Given the description of an element on the screen output the (x, y) to click on. 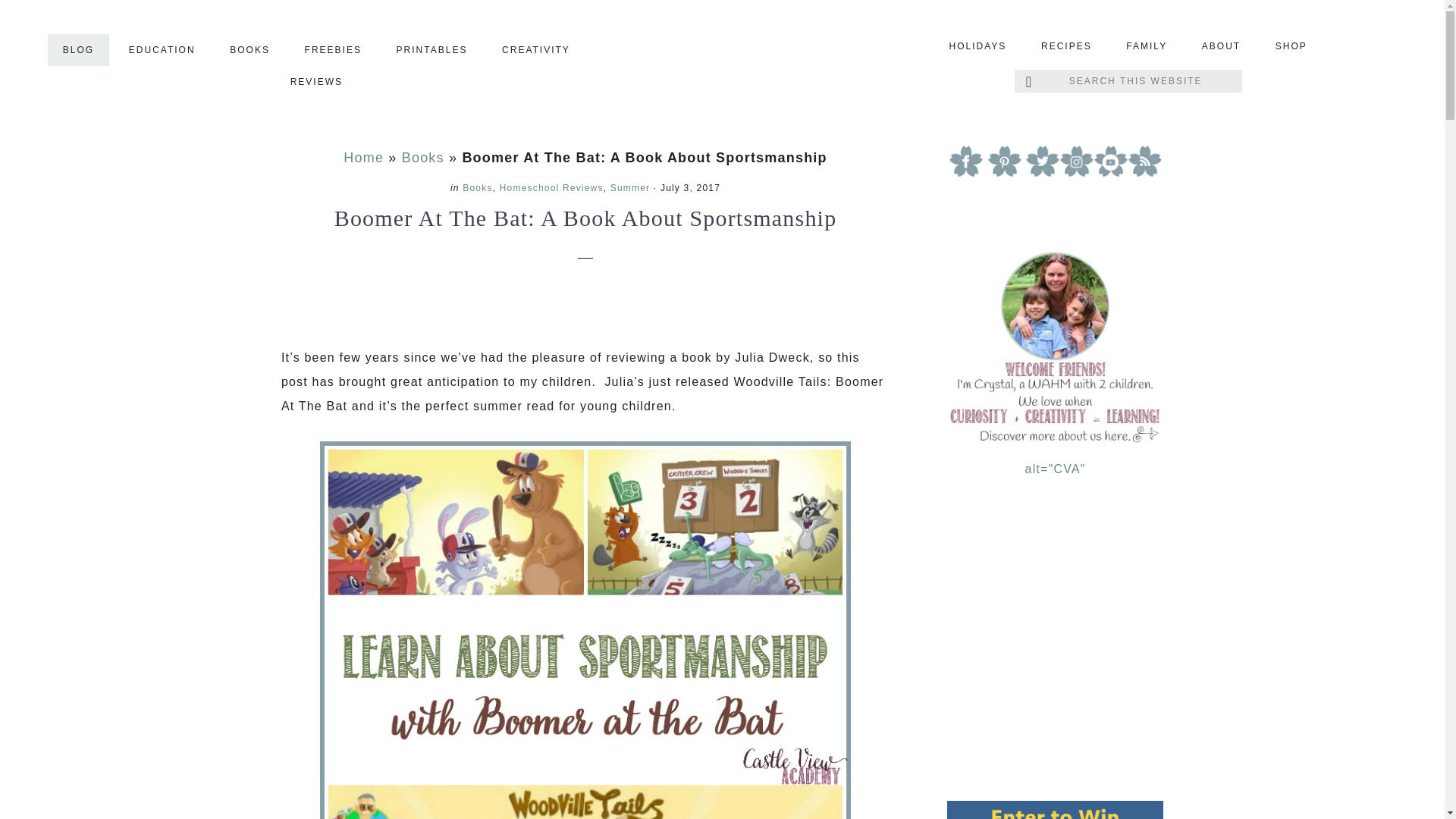
BOOKS (249, 50)
EDUCATION (162, 50)
BLOG (78, 50)
FREEBIES (333, 50)
Save to Pinterest (298, 306)
Castle View Academy (722, 64)
PRINTABLES (432, 50)
Send over email (580, 306)
CREATIVITY (535, 50)
Share on Facebook (345, 306)
